Given the description of an element on the screen output the (x, y) to click on. 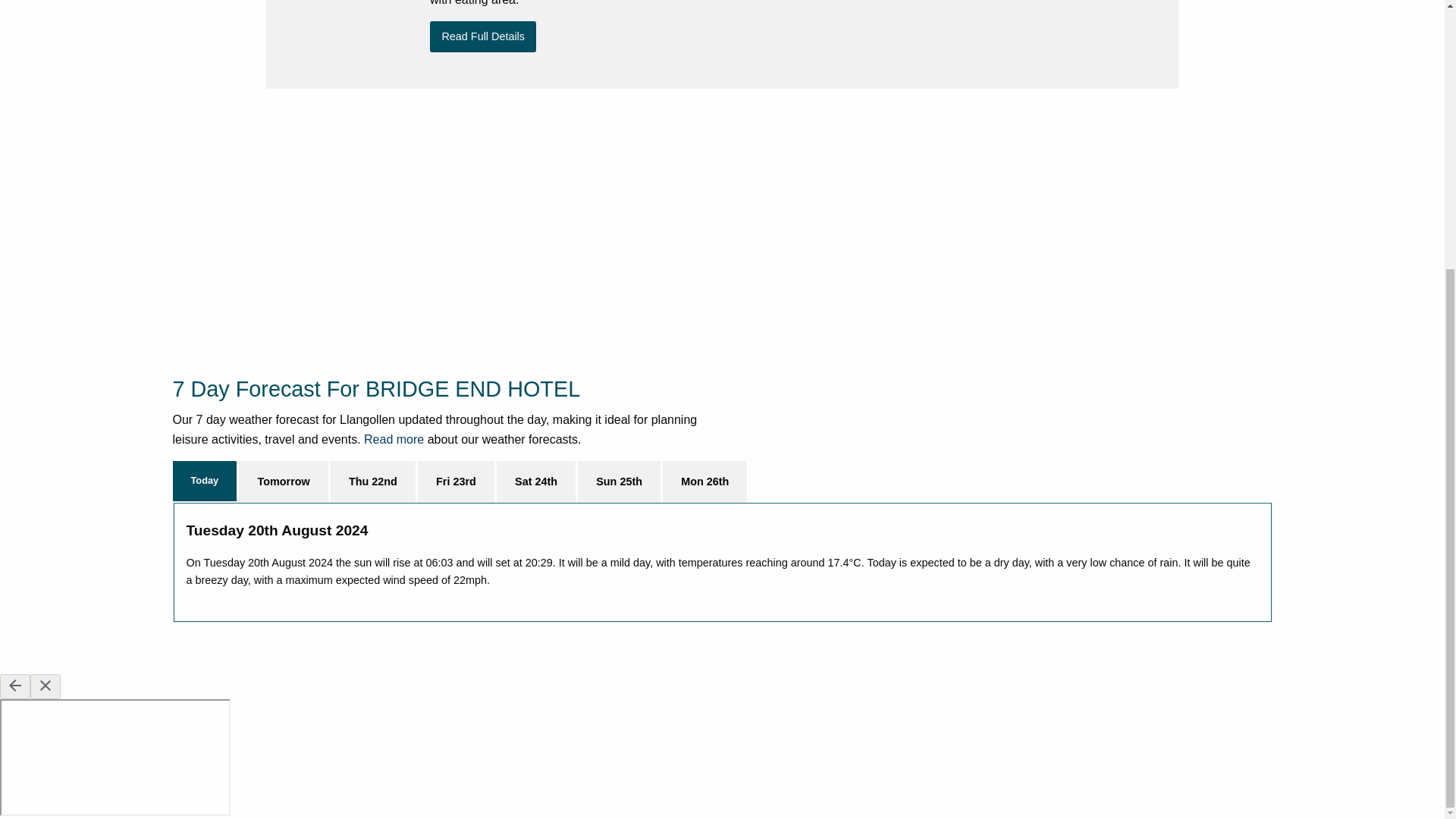
Tomorrow (282, 481)
Sun 25th (619, 481)
Read Full Details (482, 36)
Today (205, 481)
Mon 26th (704, 481)
Read more (393, 439)
Sat 24th (535, 481)
Thu 22nd (372, 481)
Fri 23rd (456, 481)
